Given the description of an element on the screen output the (x, y) to click on. 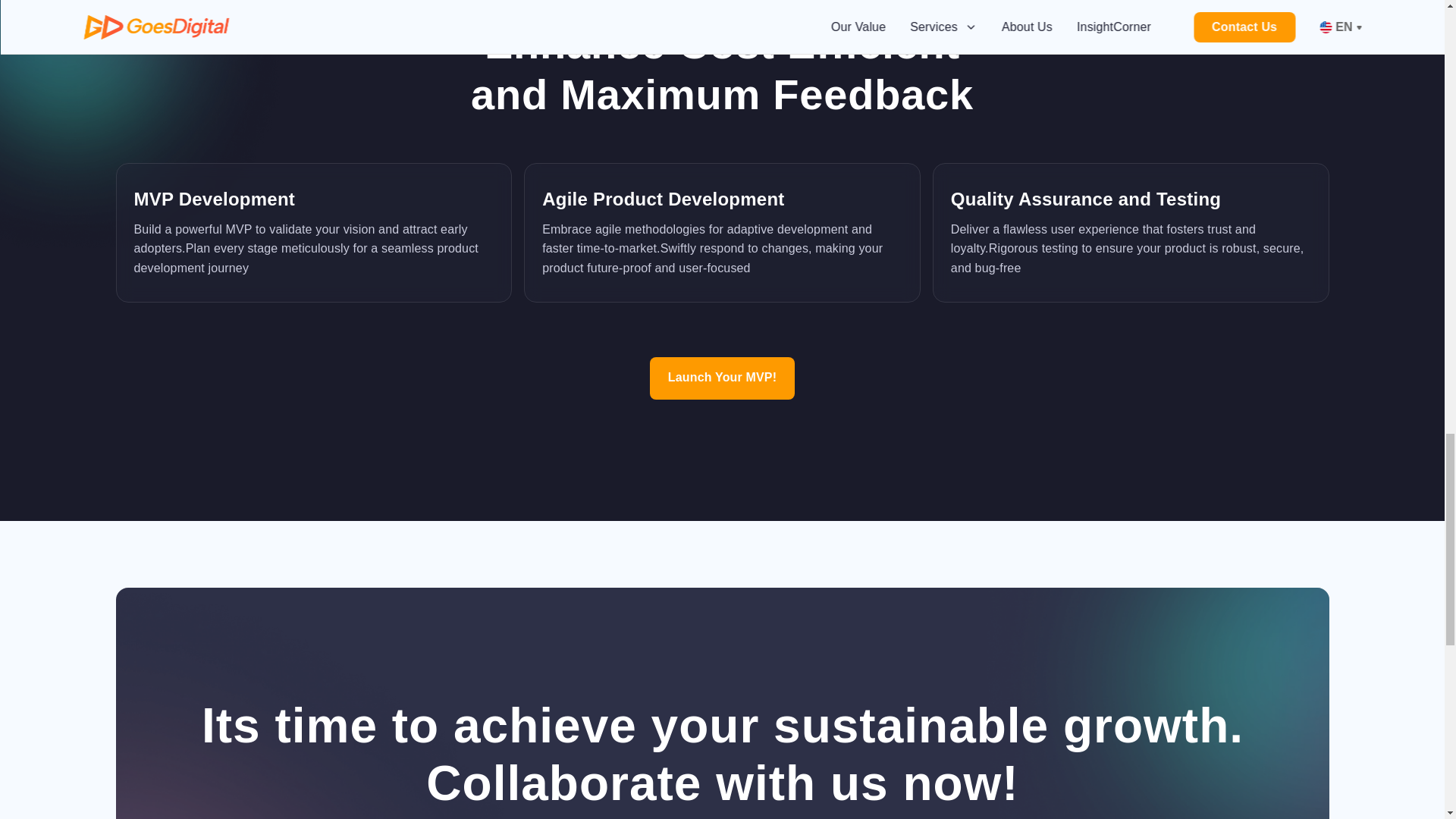
Launch Your MVP! (721, 378)
